Given the description of an element on the screen output the (x, y) to click on. 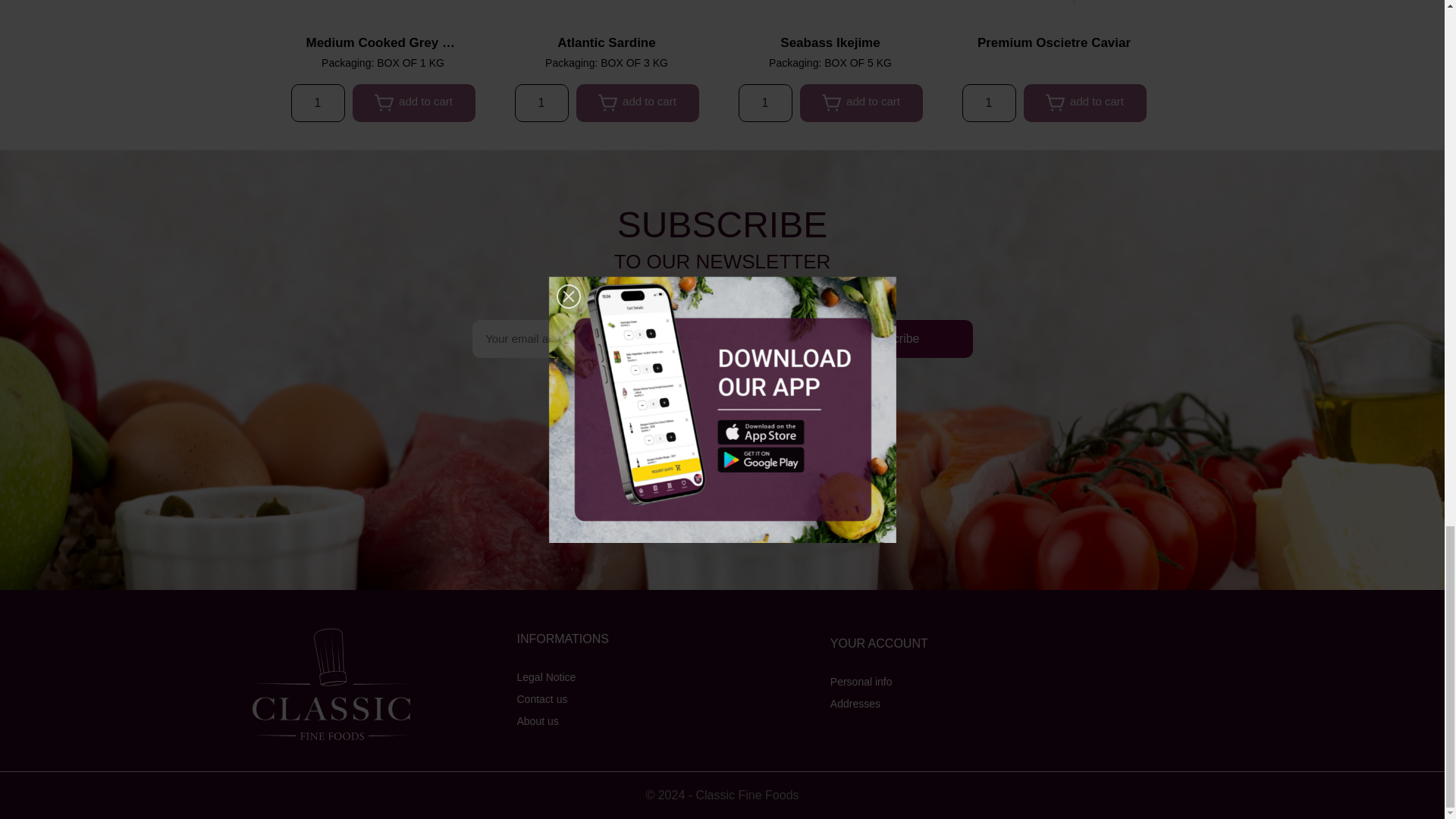
1 (765, 103)
1 (318, 103)
1 (987, 103)
1 (540, 103)
